Given the description of an element on the screen output the (x, y) to click on. 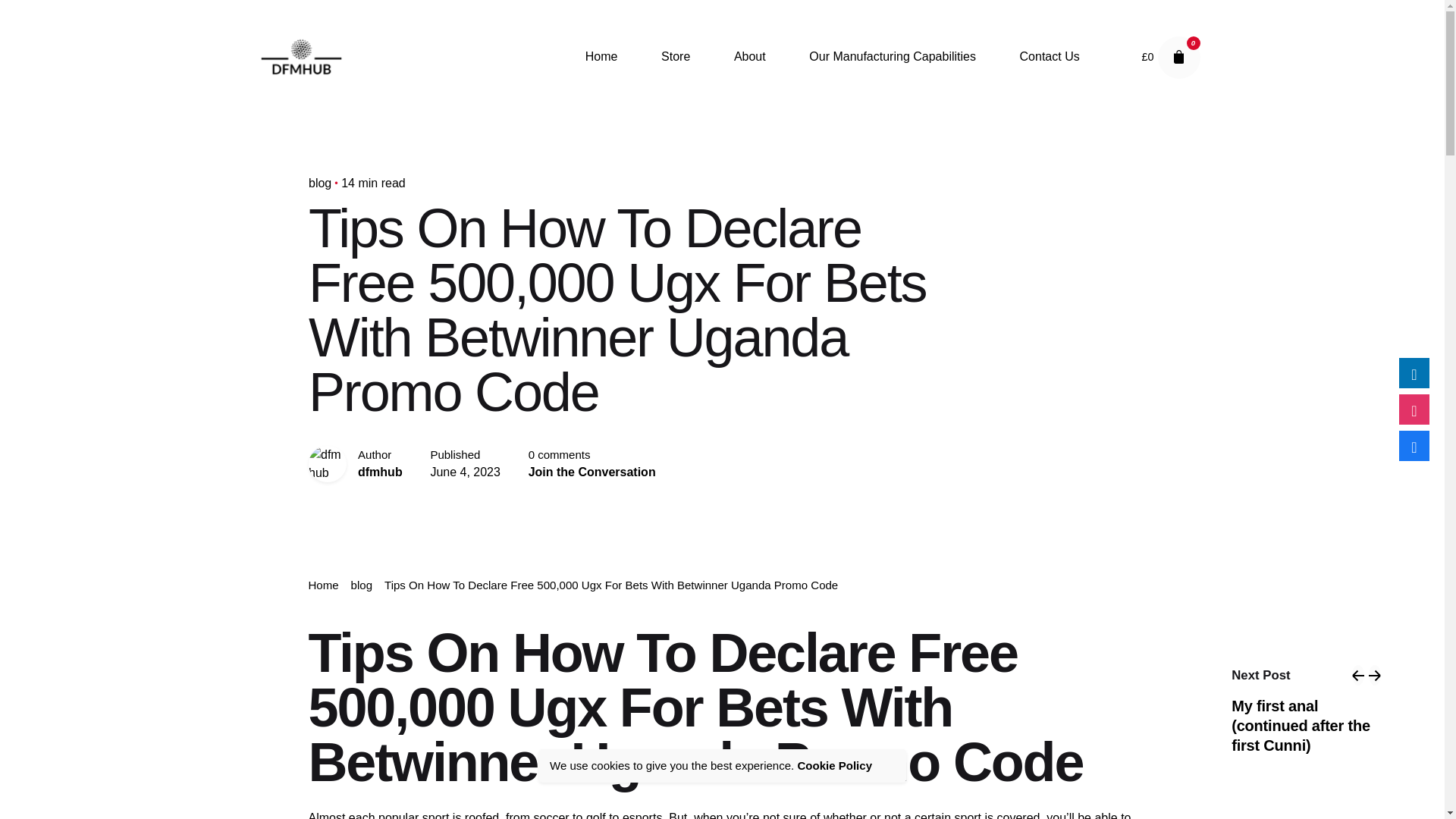
Home (601, 57)
0 (1178, 57)
blog (318, 182)
Contact Us (1049, 57)
Store (675, 57)
Join the Conversation (591, 472)
blog (361, 584)
Home (322, 584)
Our Manufacturing Capabilities (892, 57)
About (749, 57)
